Given the description of an element on the screen output the (x, y) to click on. 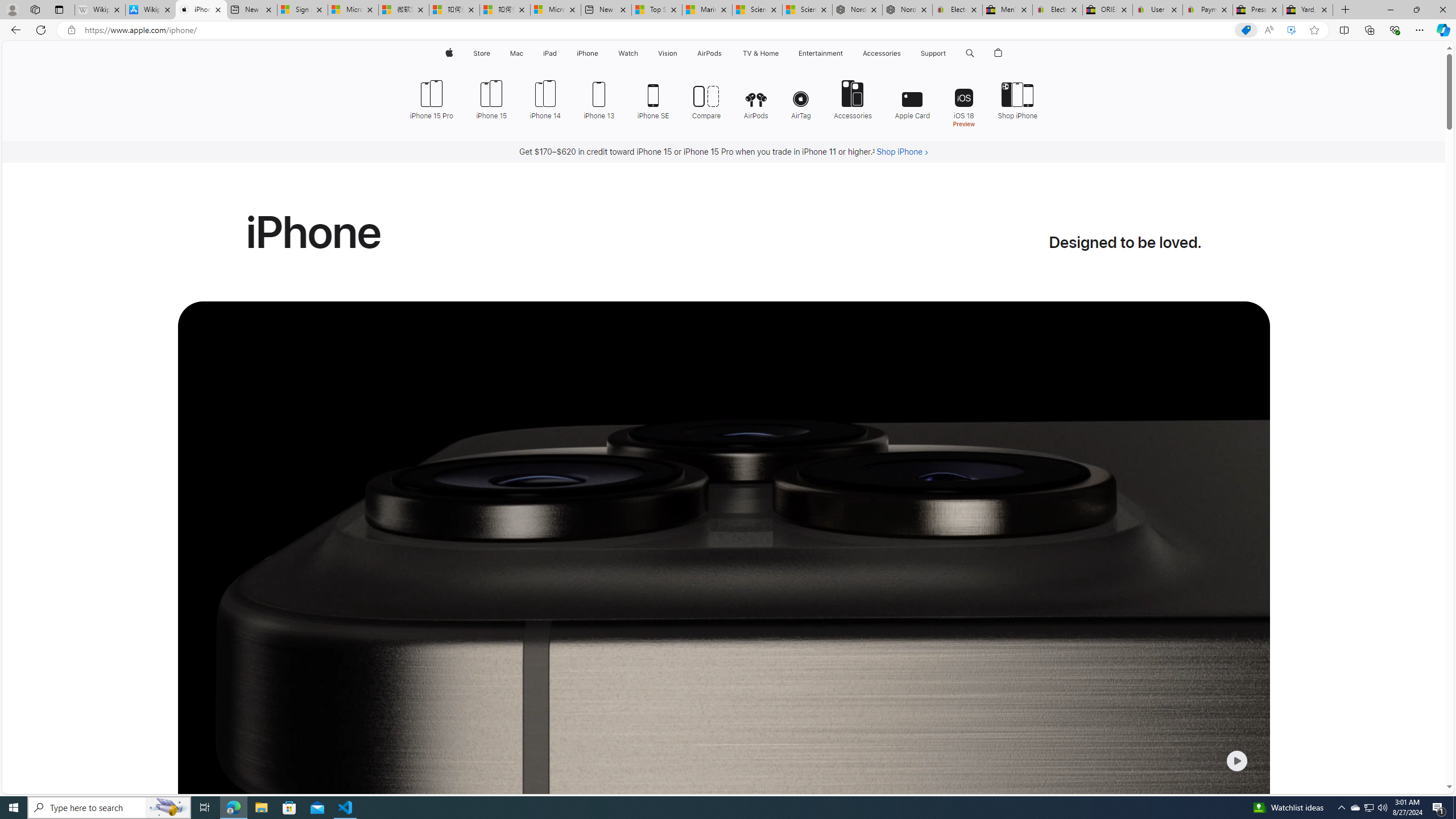
Store (481, 53)
iPhone 14 (545, 98)
iOS 18 Preview (963, 101)
Accessories (852, 98)
Enhance video (1291, 29)
TV & Home (759, 53)
Class: globalnav-submenu-trigger-item (948, 53)
Entertainment menu (844, 53)
Search apple.com (969, 53)
Press Room - eBay Inc. (1257, 9)
